Given the description of an element on the screen output the (x, y) to click on. 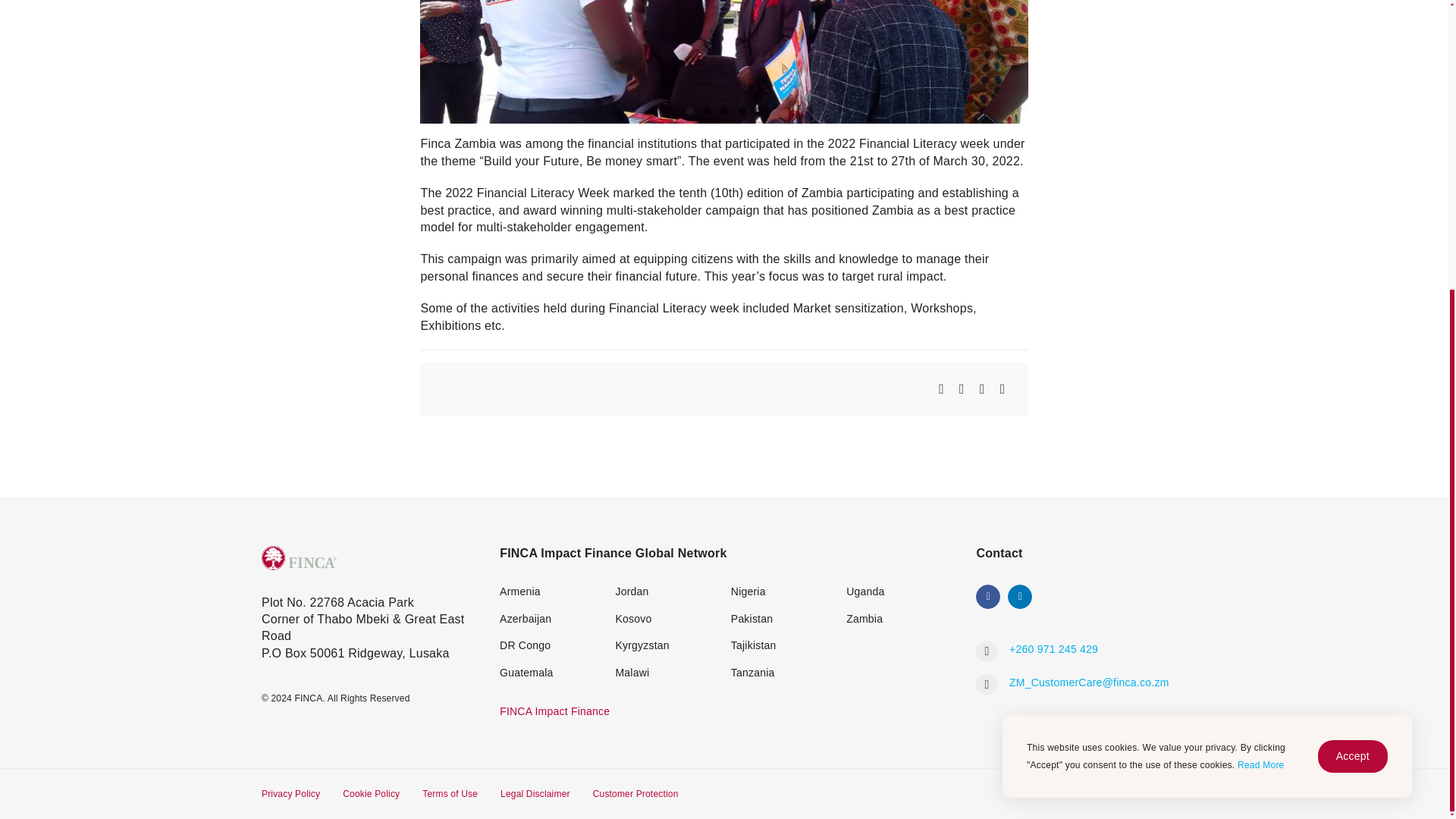
LinkedIn (1019, 596)
3 (724, 111)
4 (740, 111)
Facebook (987, 596)
1 (689, 111)
5 (758, 111)
2 (705, 111)
